Given the description of an element on the screen output the (x, y) to click on. 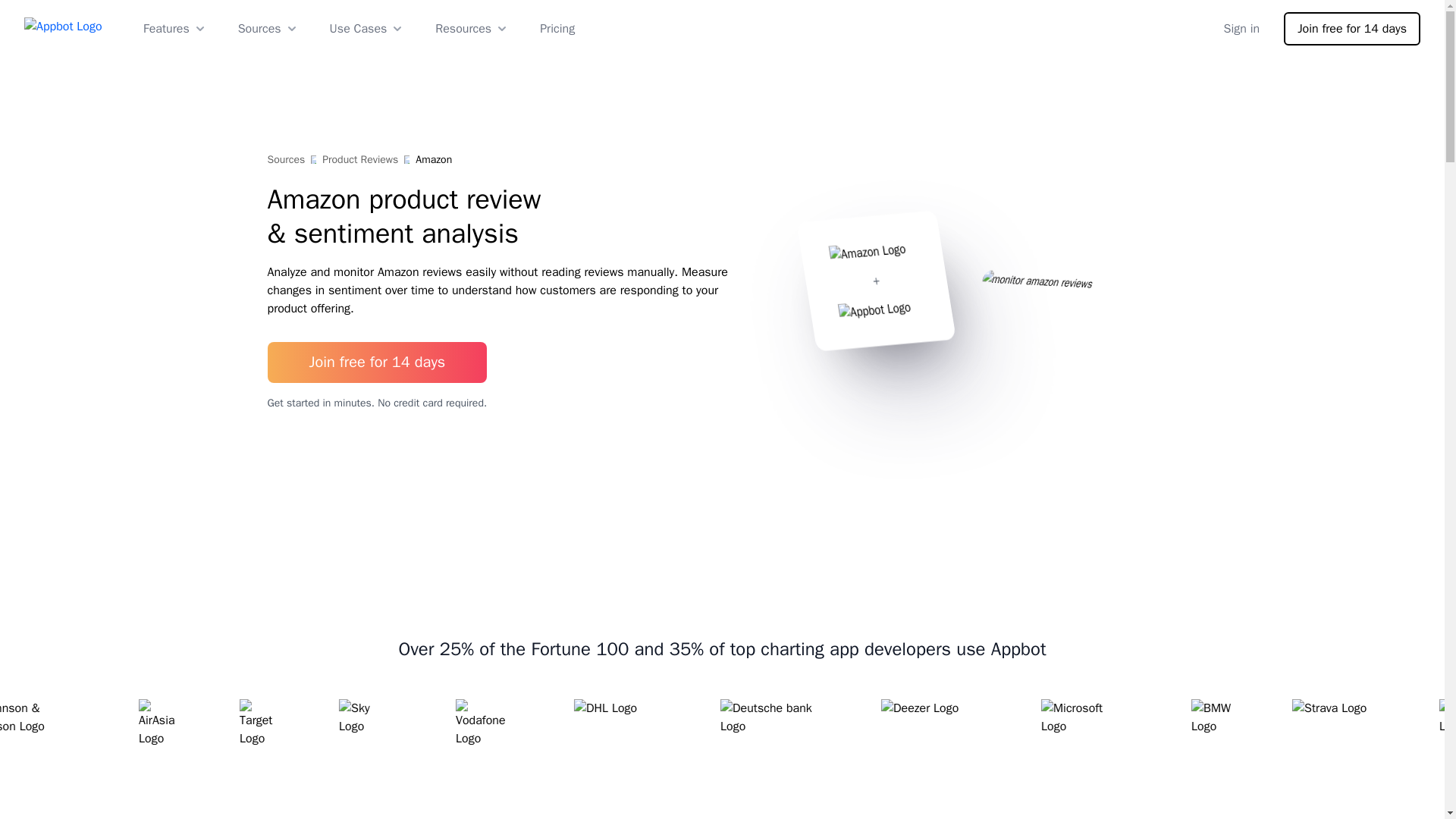
Use Cases (368, 28)
Sources (268, 28)
Features (175, 28)
Resources (472, 28)
